Given the description of an element on the screen output the (x, y) to click on. 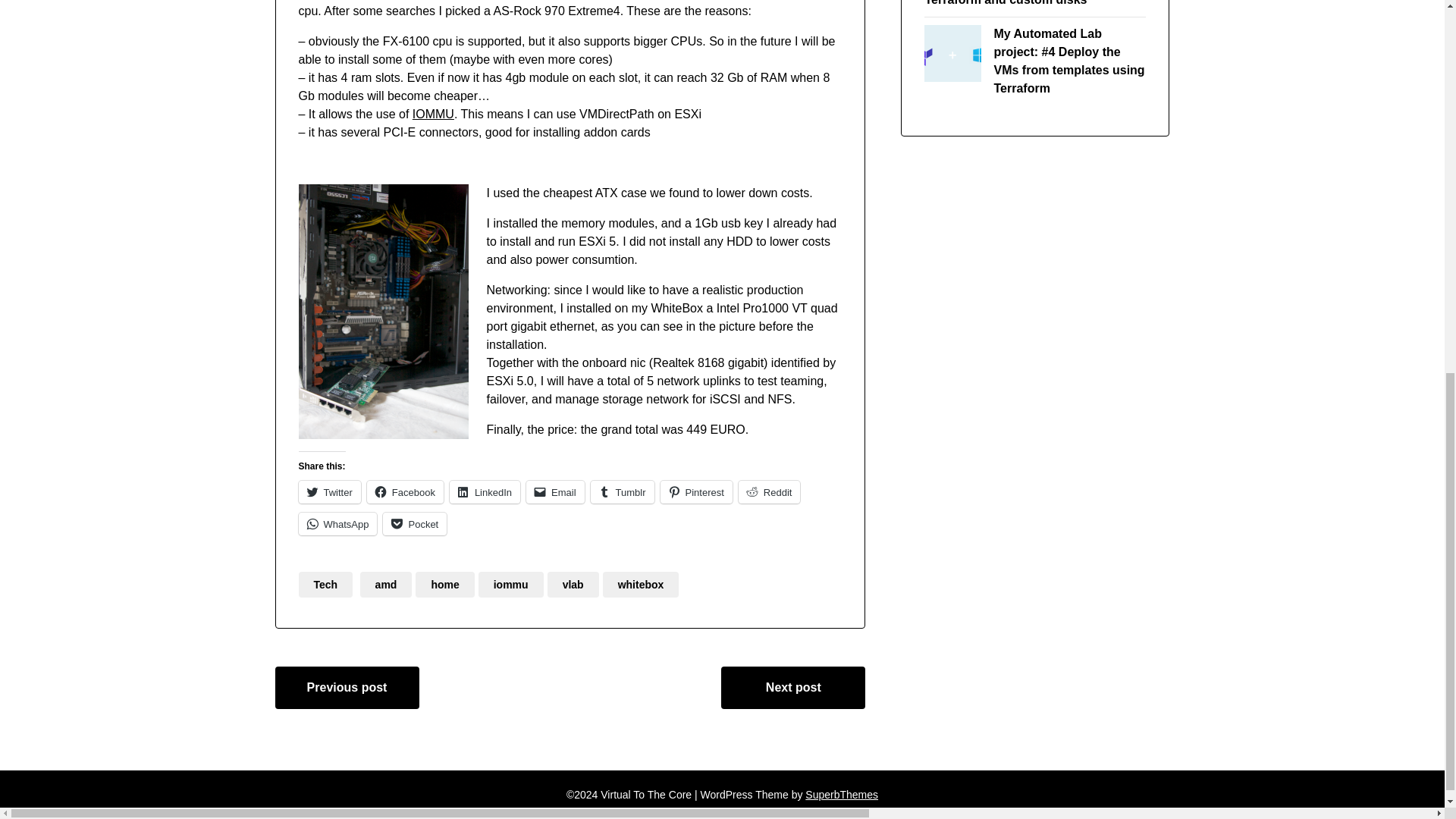
home (444, 584)
Click to share on Facebook (405, 491)
Twitter (329, 491)
Tech (325, 584)
Reddit (769, 491)
Tumblr (622, 491)
Email (555, 491)
Click to share on Pinterest (696, 491)
Click to share on Pocket (414, 523)
amd (385, 584)
SuperbThemes (841, 794)
iommu (511, 584)
LinkedIn (484, 491)
Click to share on LinkedIn (484, 491)
Pocket (414, 523)
